Given the description of an element on the screen output the (x, y) to click on. 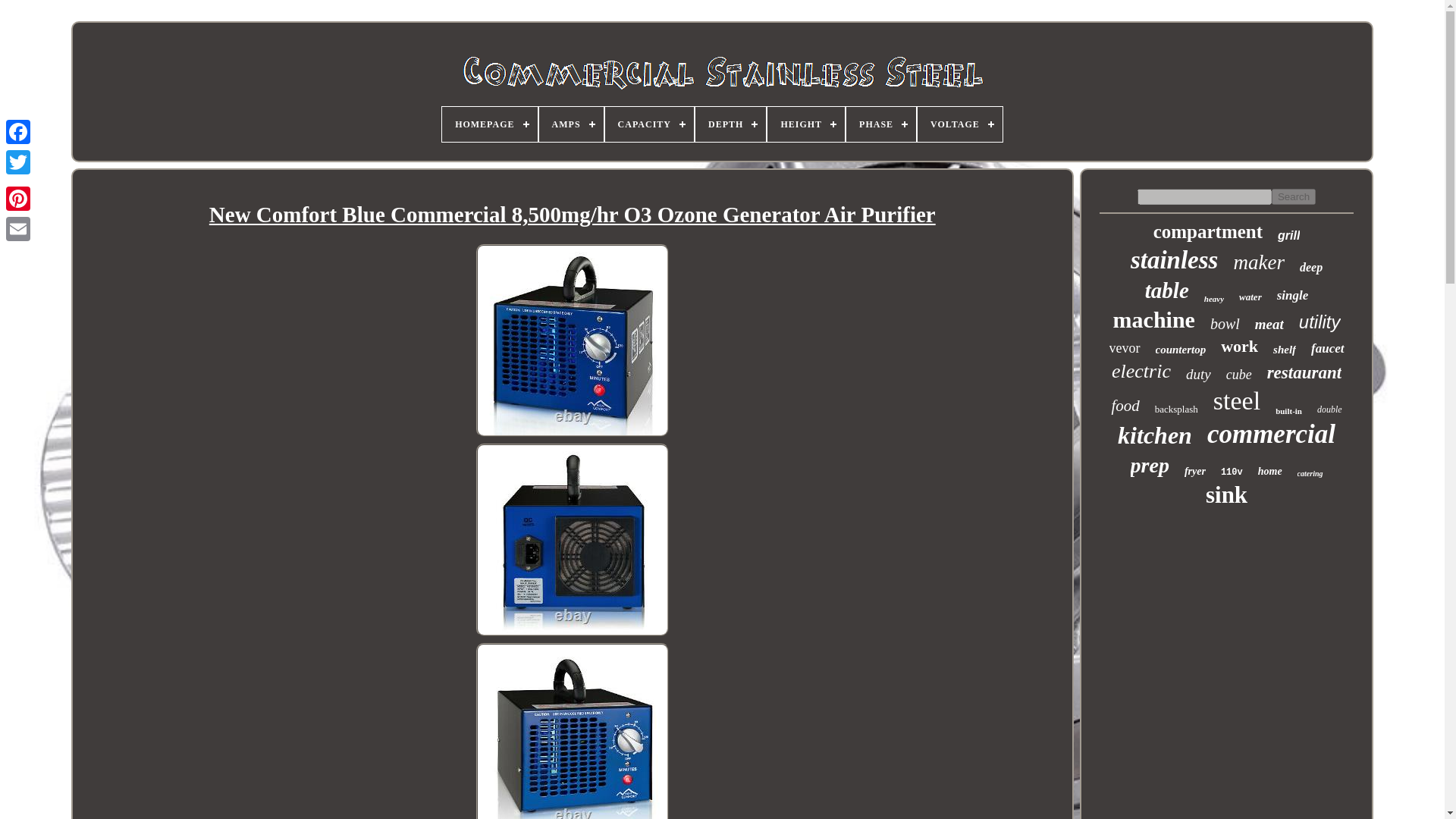
DEPTH (730, 124)
AMPS (571, 124)
HOMEPAGE (489, 124)
Search (1293, 196)
CAPACITY (649, 124)
